Given the description of an element on the screen output the (x, y) to click on. 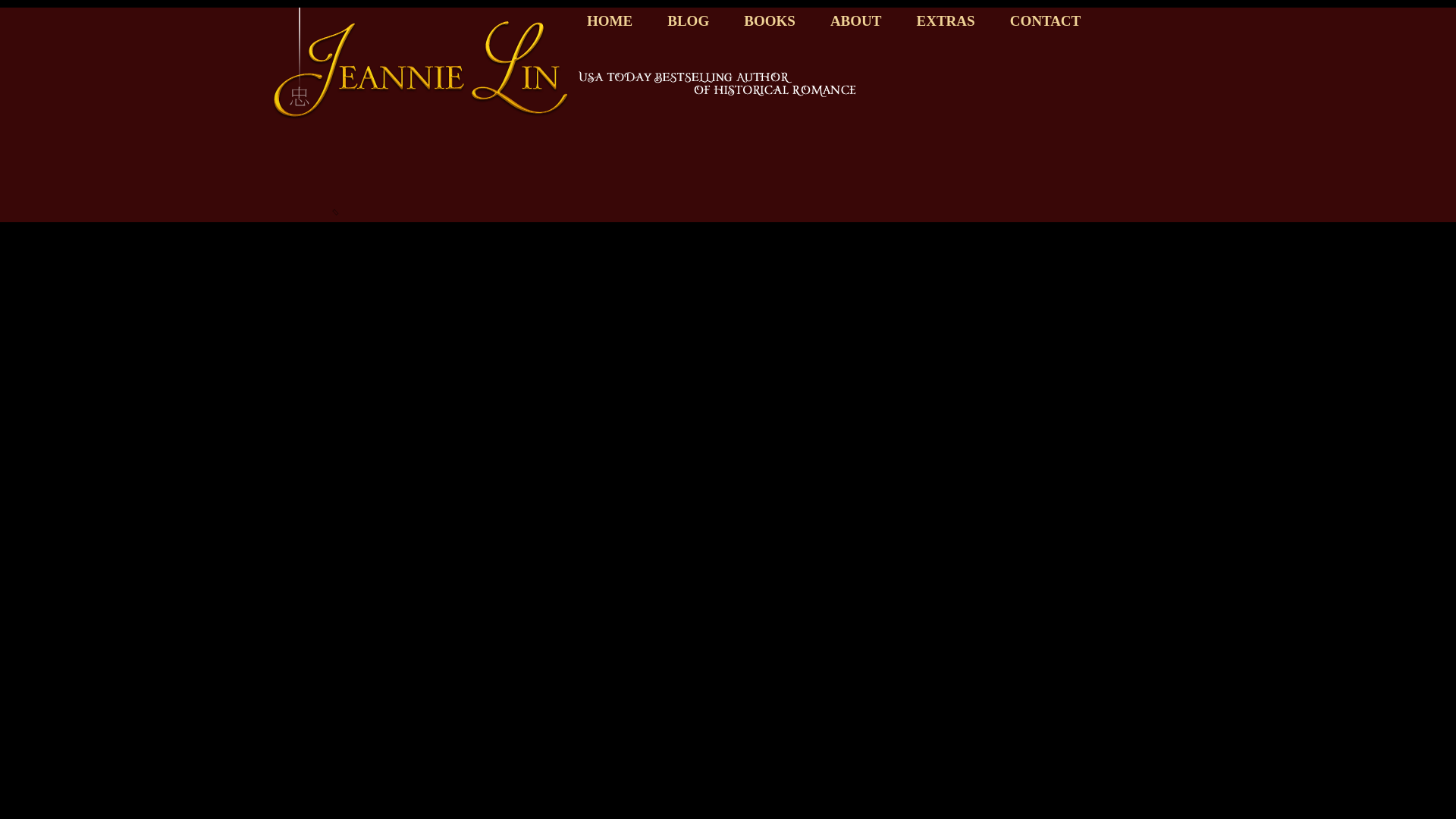
CONTACT (1045, 21)
EXTRAS (944, 21)
ABOUT (855, 21)
BLOG (687, 21)
BOOKS (769, 21)
HOME (609, 21)
